Given the description of an element on the screen output the (x, y) to click on. 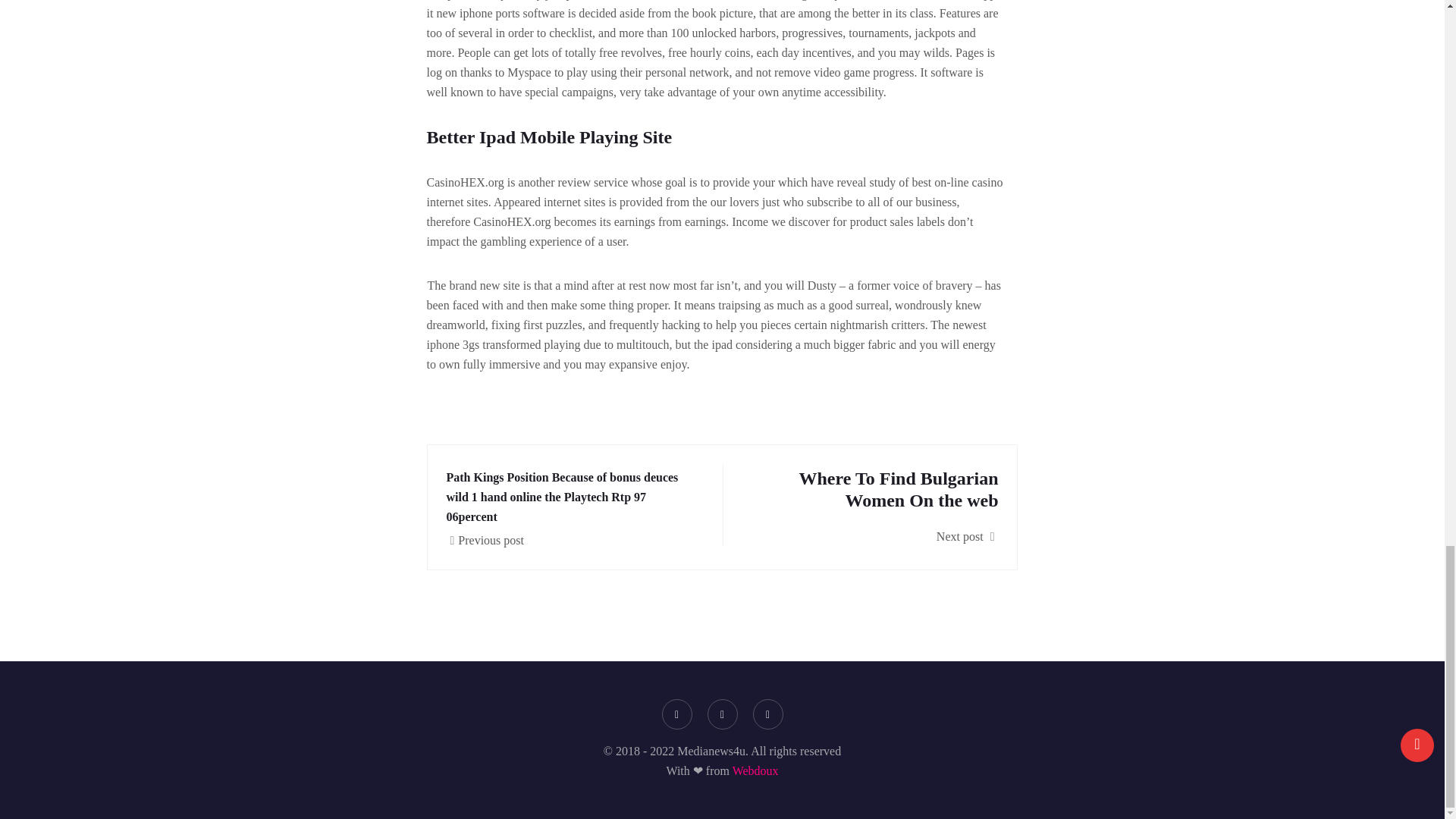
Webdoux (876, 504)
